Given the description of an element on the screen output the (x, y) to click on. 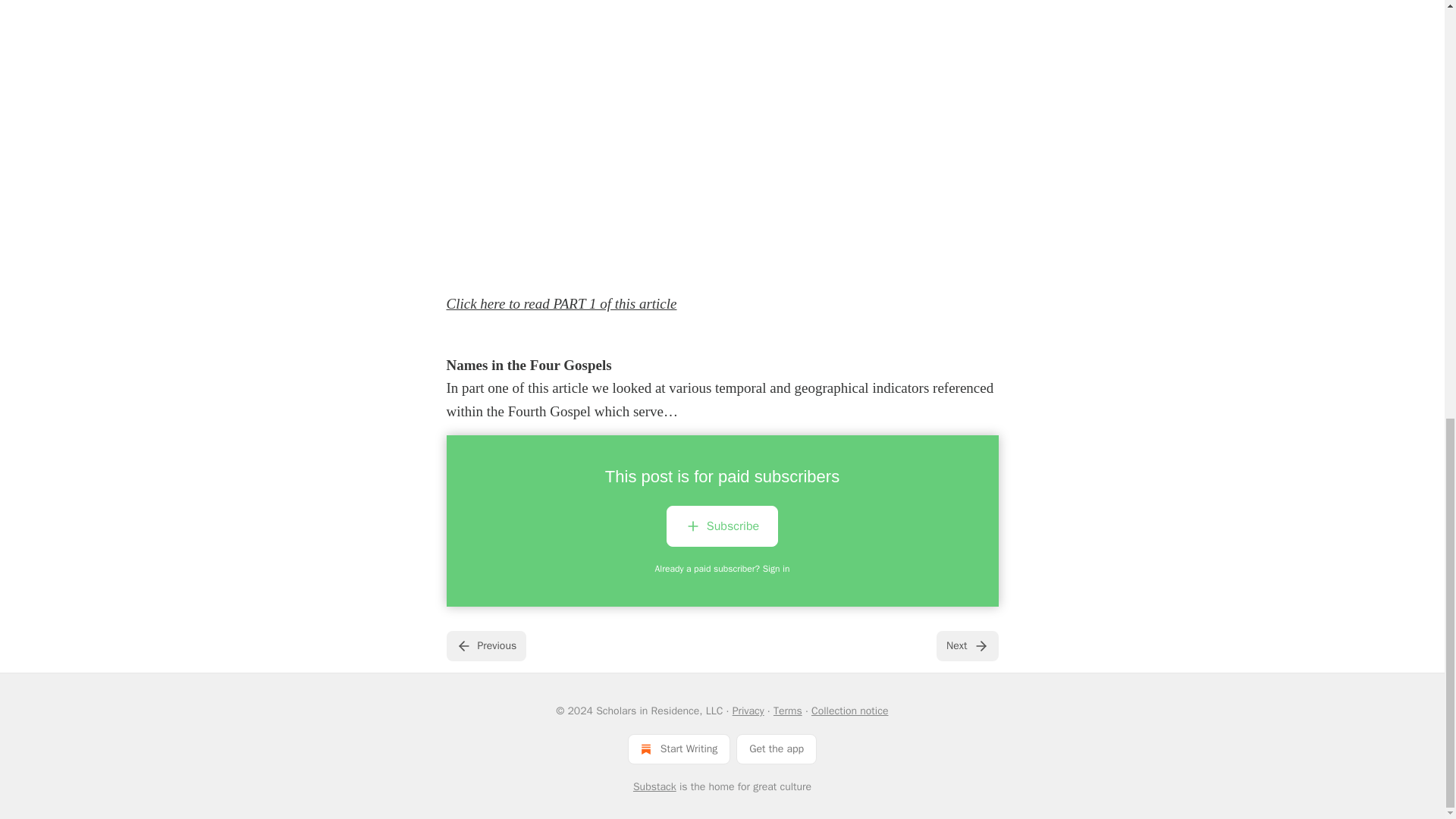
Subscribe (721, 526)
Privacy (748, 710)
Terms (787, 710)
Start Writing (678, 748)
Click here to read PART 1 of this article (561, 303)
Substack (655, 786)
Subscribe (721, 529)
Previous (485, 645)
Get the app (776, 748)
Next (966, 645)
Collection notice (849, 710)
Already a paid subscriber? Sign in (722, 568)
